Given the description of an element on the screen output the (x, y) to click on. 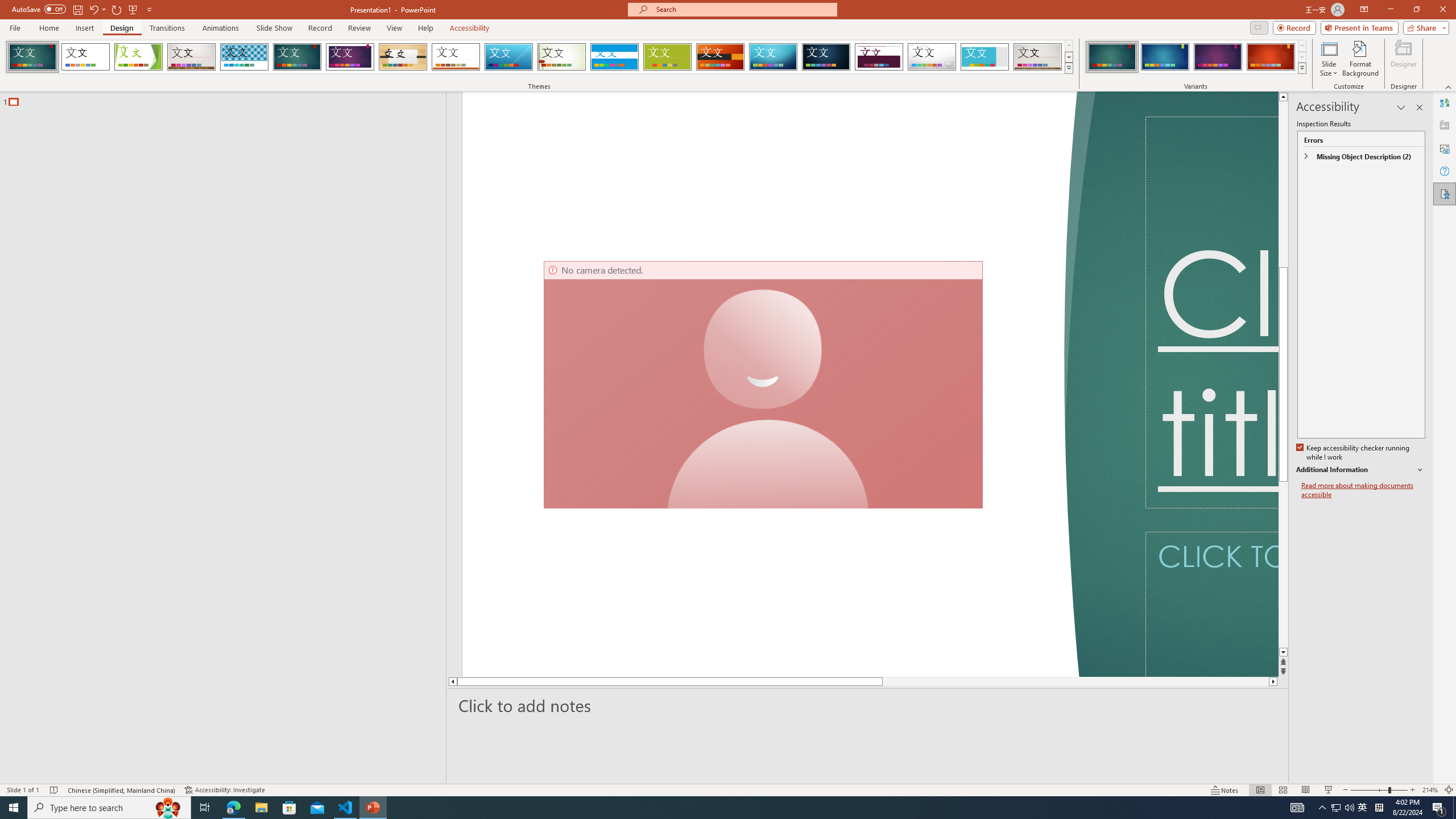
Ion (296, 56)
Translator (1444, 102)
Ion Variant 2 (1164, 56)
Class: NetUIImage (1302, 68)
Office Theme (85, 56)
Ion Variant 3 (1217, 56)
Organic (403, 56)
Rectangle (216, 437)
